Given the description of an element on the screen output the (x, y) to click on. 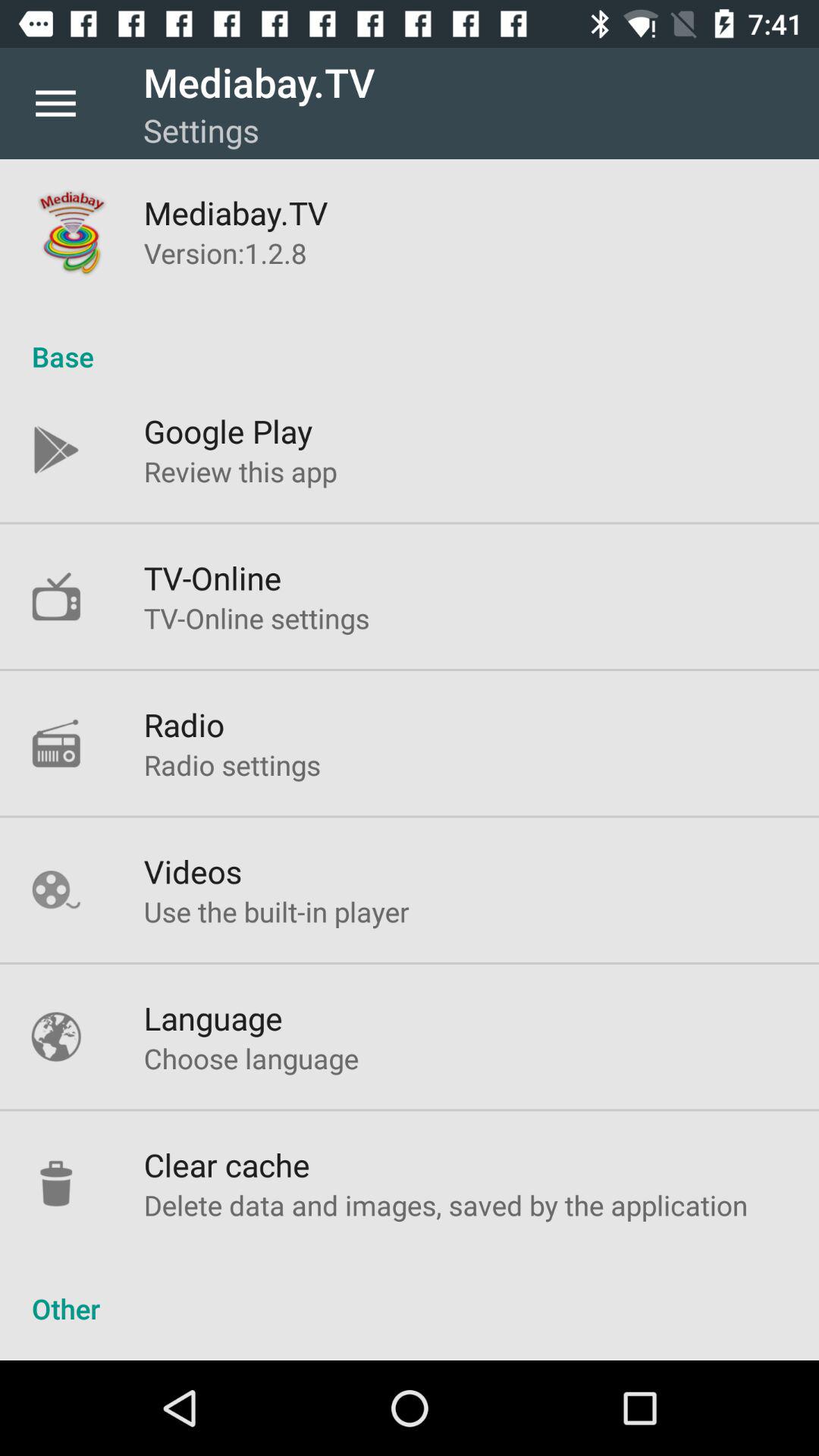
launch icon above review this app (227, 430)
